Given the description of an element on the screen output the (x, y) to click on. 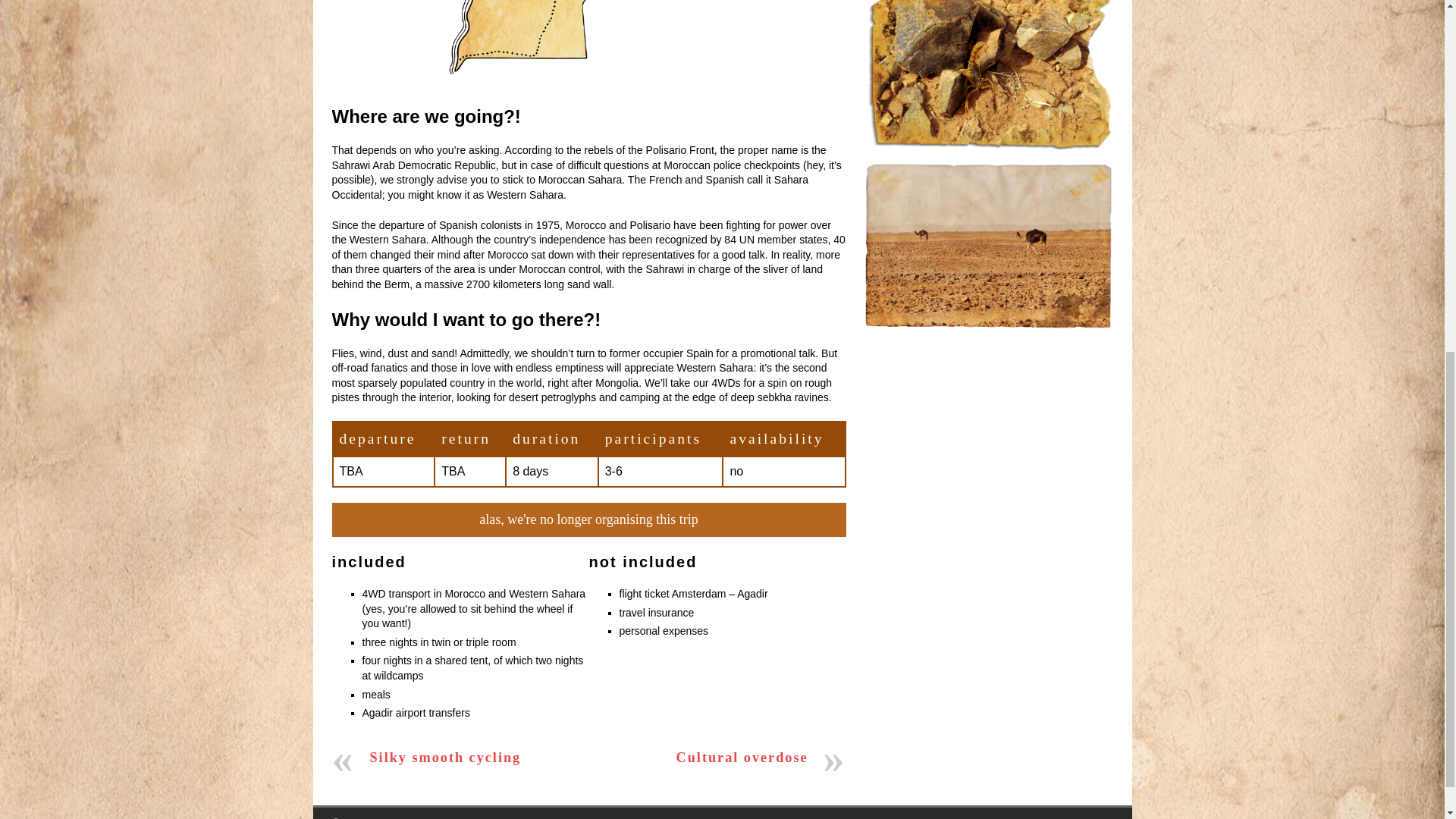
Silky smooth cycling (445, 757)
Cultural overdose (741, 757)
